Given the description of an element on the screen output the (x, y) to click on. 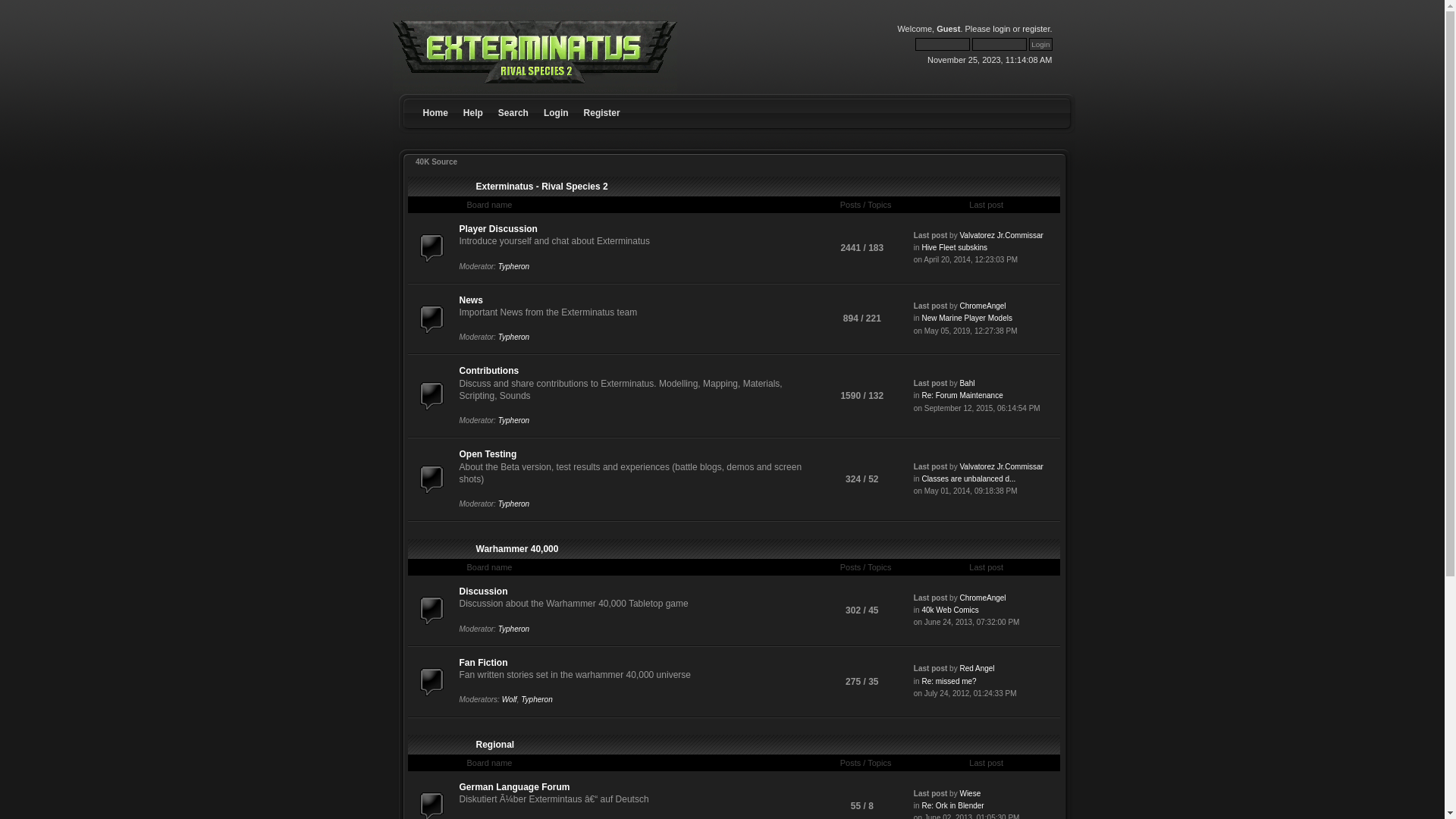
Exterminatus - Rival Species 2 Element type: text (542, 186)
ChromeAngel Element type: text (982, 305)
No New Posts Element type: hover (431, 395)
Regional Element type: text (495, 744)
No New Posts Element type: hover (431, 681)
Help Element type: text (472, 100)
Classes are unbalanced d... Element type: text (968, 478)
No New Posts Element type: hover (431, 478)
Red Angel Element type: text (976, 668)
Re: Ork in Blender Element type: text (952, 805)
Typheron Element type: text (514, 628)
Typheron Element type: text (514, 420)
Bahl Element type: text (966, 383)
Login Element type: text (1040, 43)
Register Element type: text (601, 100)
Player Discussion Element type: text (498, 228)
login Element type: text (1001, 28)
Wiese Element type: text (969, 793)
Fan Fiction Element type: text (483, 662)
No New Posts Element type: hover (431, 610)
Search Element type: text (513, 100)
register Element type: text (1035, 28)
ChromeAngel Element type: text (982, 597)
Typheron Element type: text (536, 699)
Typheron Element type: text (514, 336)
40K Source Element type: text (436, 161)
Valvatorez Jr.Commissar Element type: text (1000, 235)
Hive Fleet subskins Element type: text (954, 247)
No New Posts Element type: hover (431, 318)
Home Element type: text (435, 100)
Discussion Element type: text (483, 591)
Contributions Element type: text (489, 370)
Warhammer 40,000 Element type: text (517, 548)
News Element type: text (471, 299)
No New Posts Element type: hover (431, 247)
Typheron Element type: text (514, 266)
Wolf Element type: text (509, 699)
German Language Forum Element type: text (514, 786)
Re: missed me? Element type: text (948, 681)
New Marine Player Models Element type: text (966, 317)
40k Web Comics Element type: text (949, 609)
Open Testing Element type: text (488, 453)
Re: Forum Maintenance Element type: text (961, 395)
Valvatorez Jr.Commissar Element type: text (1000, 466)
Login Element type: text (556, 100)
Typheron Element type: text (514, 503)
